Given the description of an element on the screen output the (x, y) to click on. 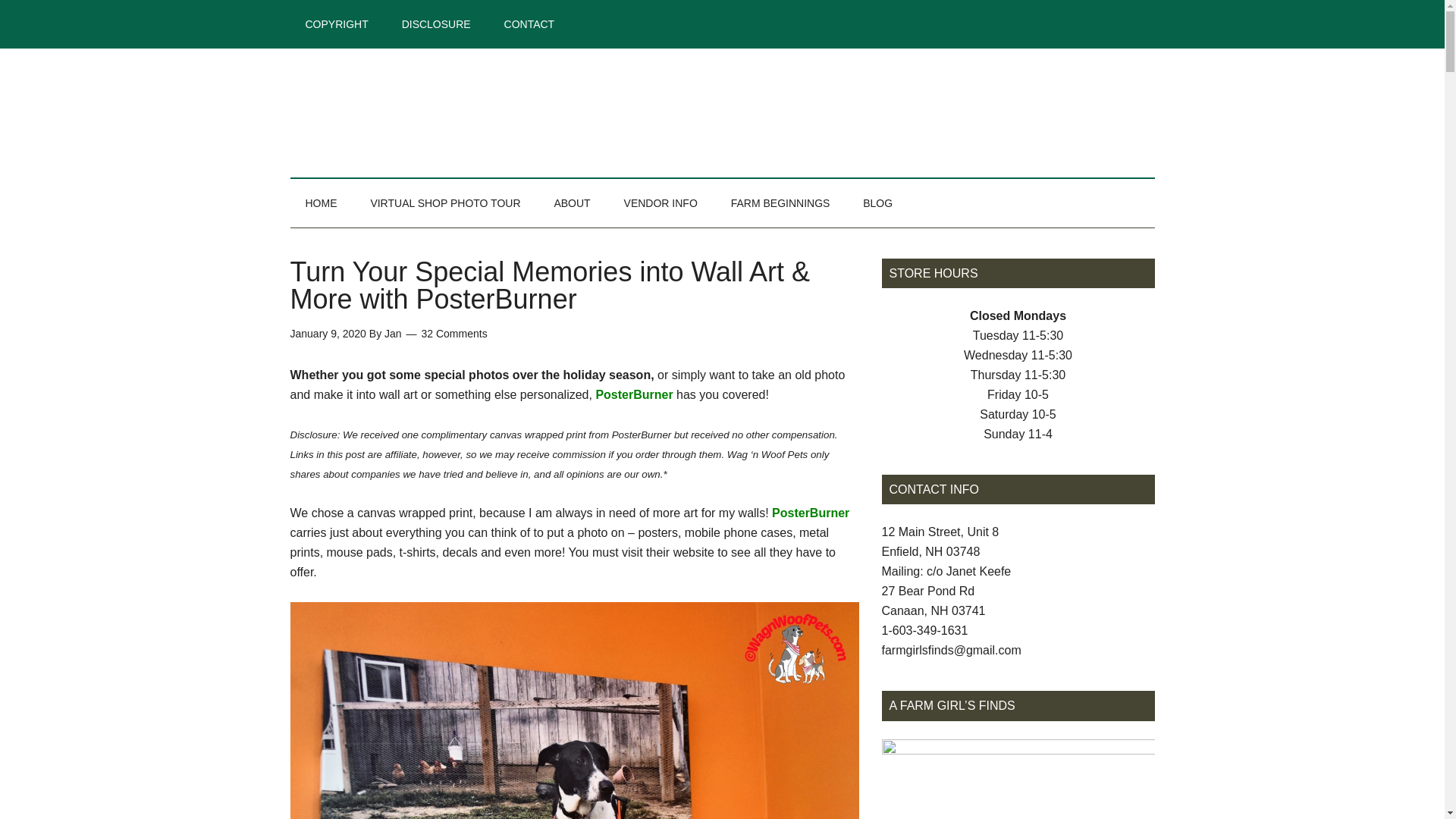
A Farm Girl's Finds (433, 112)
Jan (392, 333)
HOME (320, 203)
ABOUT (571, 203)
FARM BEGINNINGS (780, 203)
BLOG (877, 203)
VIRTUAL SHOP PHOTO TOUR (445, 203)
DISCLOSURE (436, 24)
VENDOR INFO (660, 203)
32 Comments (454, 333)
